Given the description of an element on the screen output the (x, y) to click on. 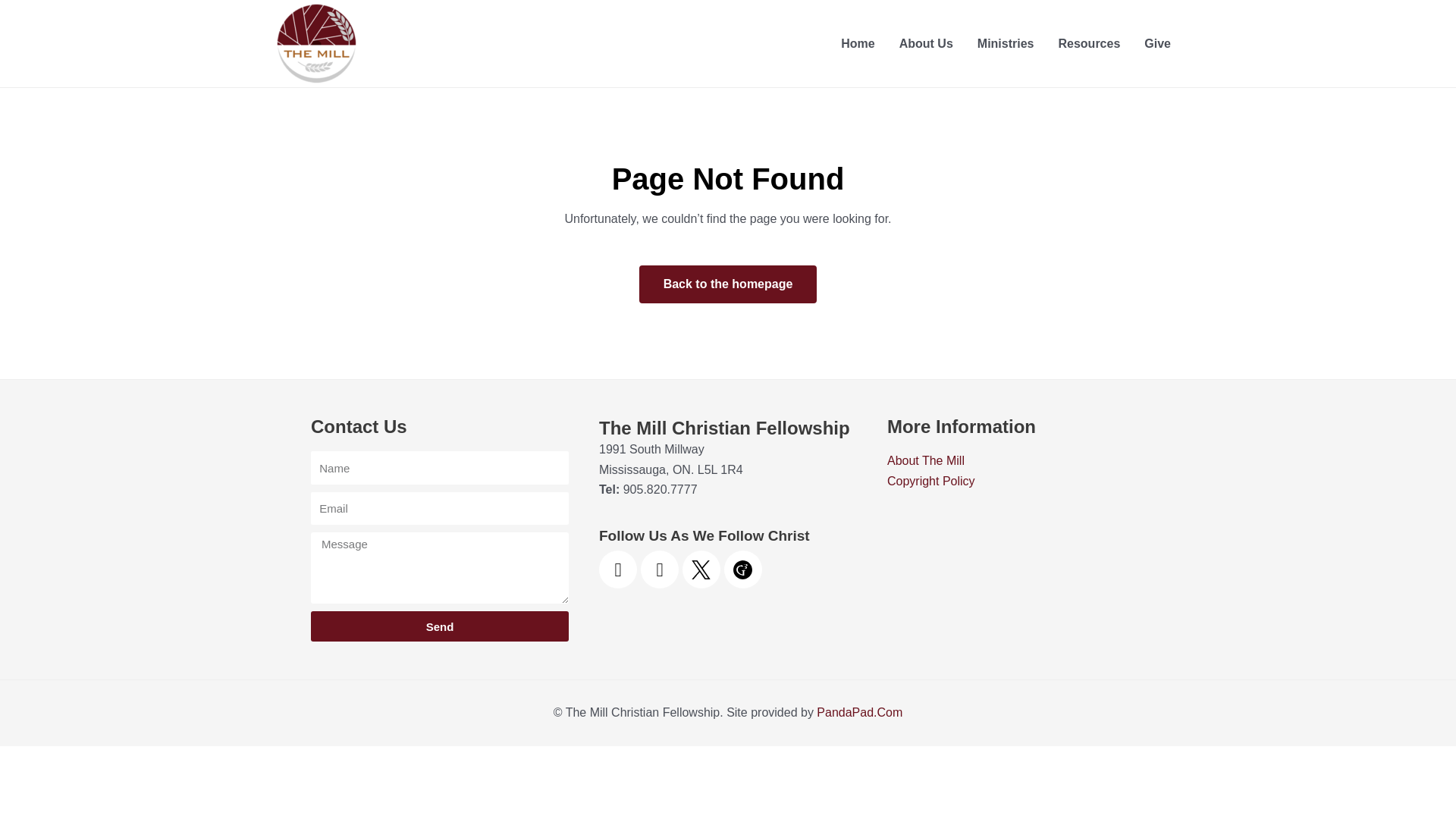
Send (440, 625)
Ministries (1005, 43)
Give (1157, 43)
Home (857, 43)
Resources (1088, 43)
Youtube (617, 569)
Back to the homepage (727, 284)
About Us (925, 43)
Facebook (659, 569)
